Given the description of an element on the screen output the (x, y) to click on. 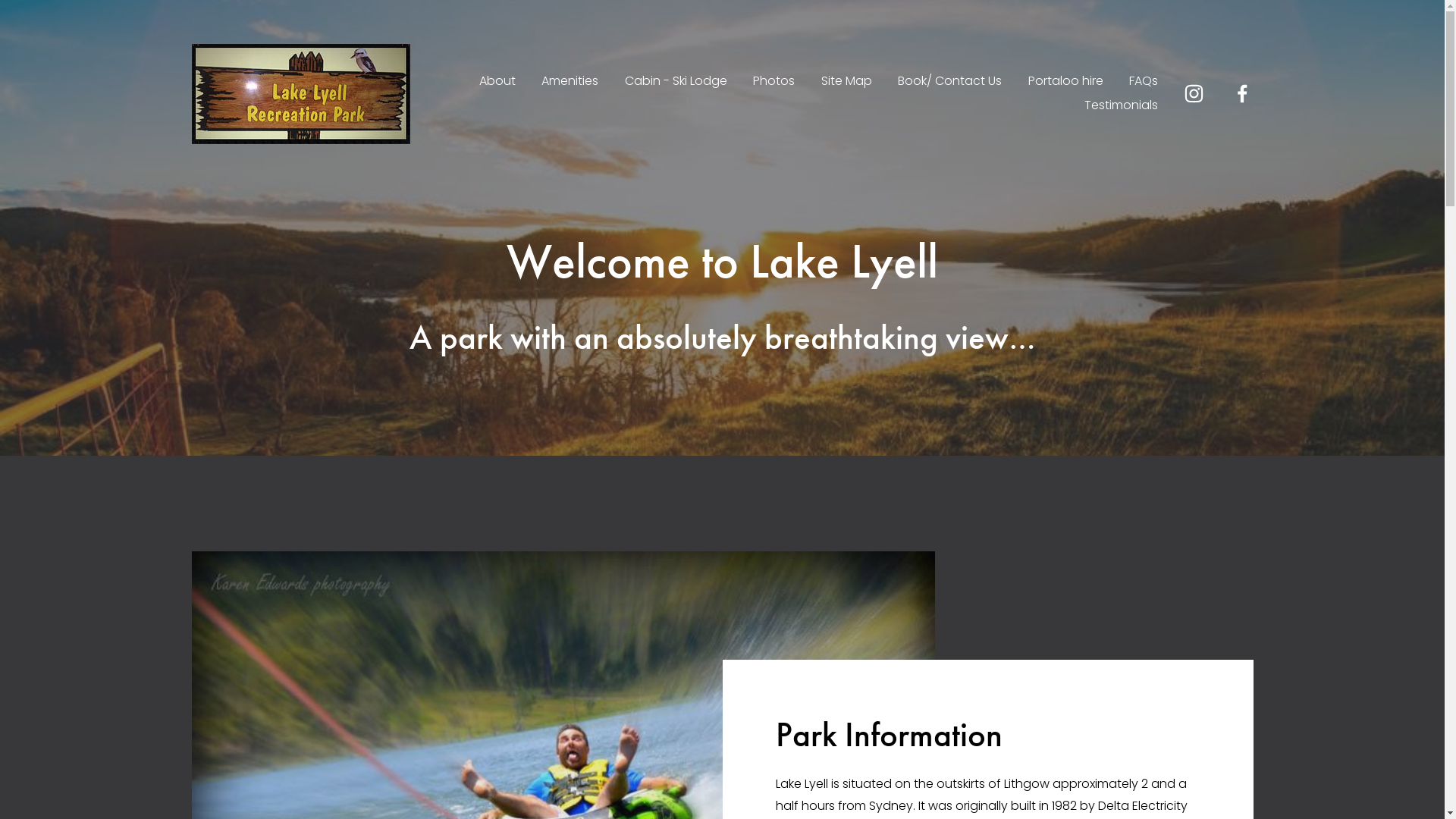
About Element type: text (497, 81)
Cabin - Ski Lodge Element type: text (675, 81)
Photos Element type: text (773, 81)
Book/ Contact Us Element type: text (949, 81)
Testimonials Element type: text (1120, 106)
Portaloo hire Element type: text (1065, 81)
Amenities Element type: text (569, 81)
FAQs Element type: text (1143, 81)
Site Map Element type: text (846, 81)
